Given the description of an element on the screen output the (x, y) to click on. 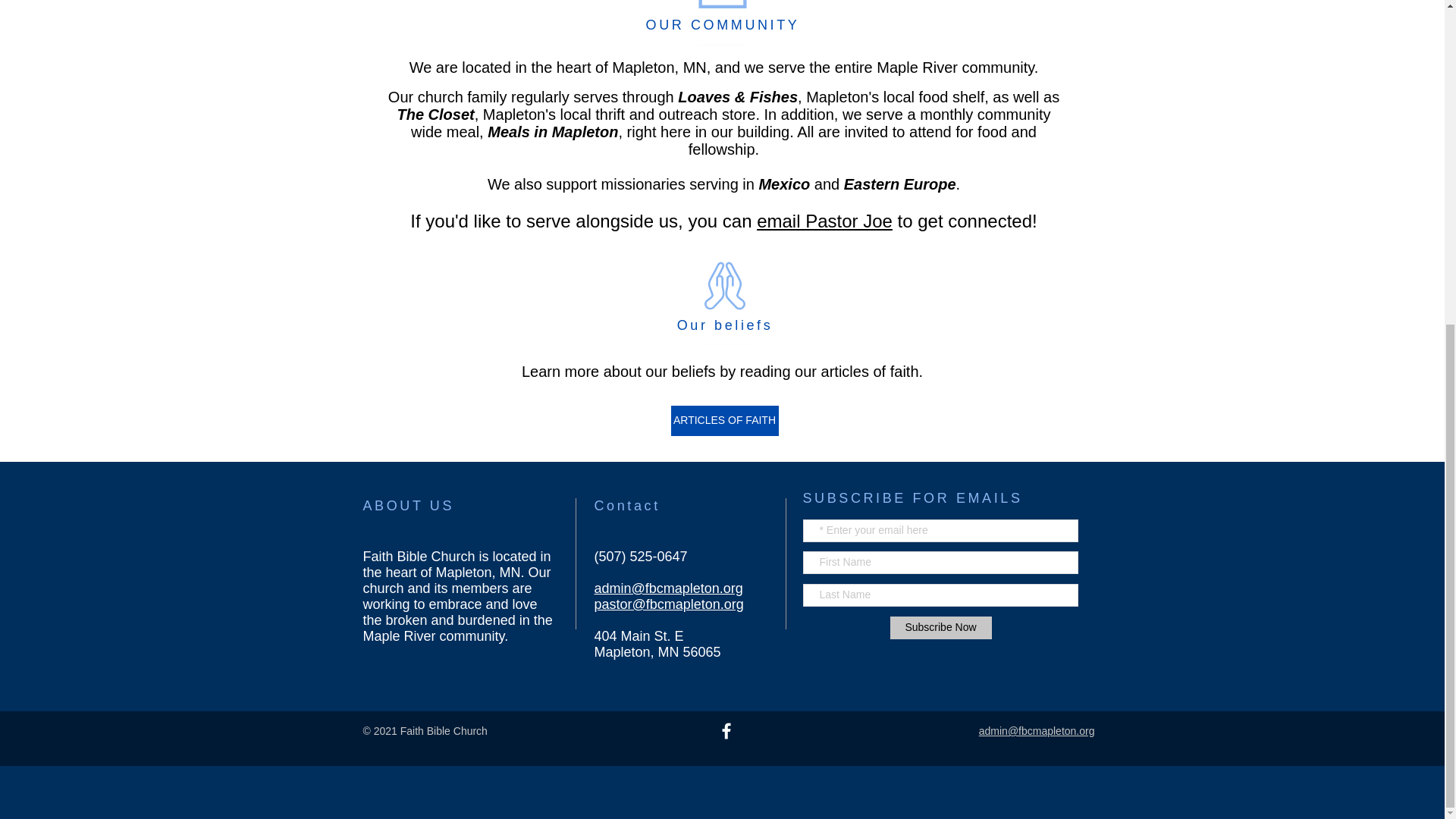
email Pastor Joe (824, 220)
Subscribe Now (940, 627)
ARTICLES OF FAITH (723, 420)
